Given the description of an element on the screen output the (x, y) to click on. 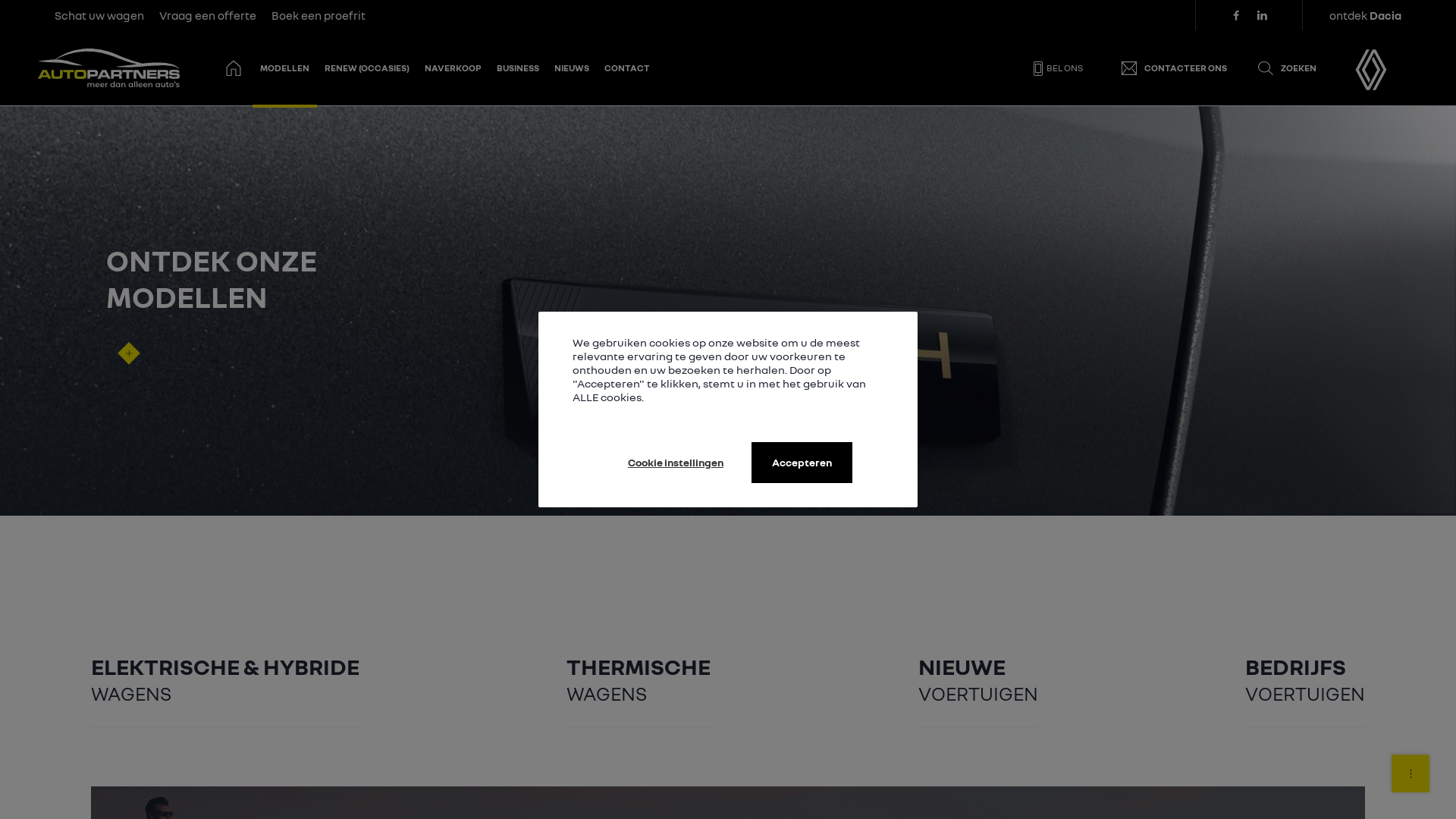
RENEW (OCCASIES) Element type: text (366, 68)
ZOEKEN Element type: text (1286, 68)
CONTACTEER ONS Element type: text (1173, 68)
THERMISCHE
WAGENS Element type: text (638, 674)
Accepteren Element type: text (801, 462)
BUSINESS Element type: text (517, 68)
MODELLEN Element type: text (284, 68)
ELEKTRISCHE & HYBRIDE
WAGENS Element type: text (225, 674)
Schat uw wagen Element type: text (99, 14)
NAVERKOOP Element type: text (453, 68)
Boek een proefrit Element type: text (318, 14)
HOME Element type: text (233, 67)
Facebook Element type: text (1235, 14)
Cookie instellingen Element type: text (675, 462)
Vraag een offerte Element type: text (207, 14)
CONTACT Element type: text (626, 68)
BEDRIJFS
VOERTUIGEN Element type: text (1305, 674)
ontdek Dacia Element type: text (1365, 15)
LinkedIn Element type: text (1261, 14)
NIEUWE
VOERTUIGEN Element type: text (978, 674)
NIEUWS Element type: text (571, 68)
